Given the description of an element on the screen output the (x, y) to click on. 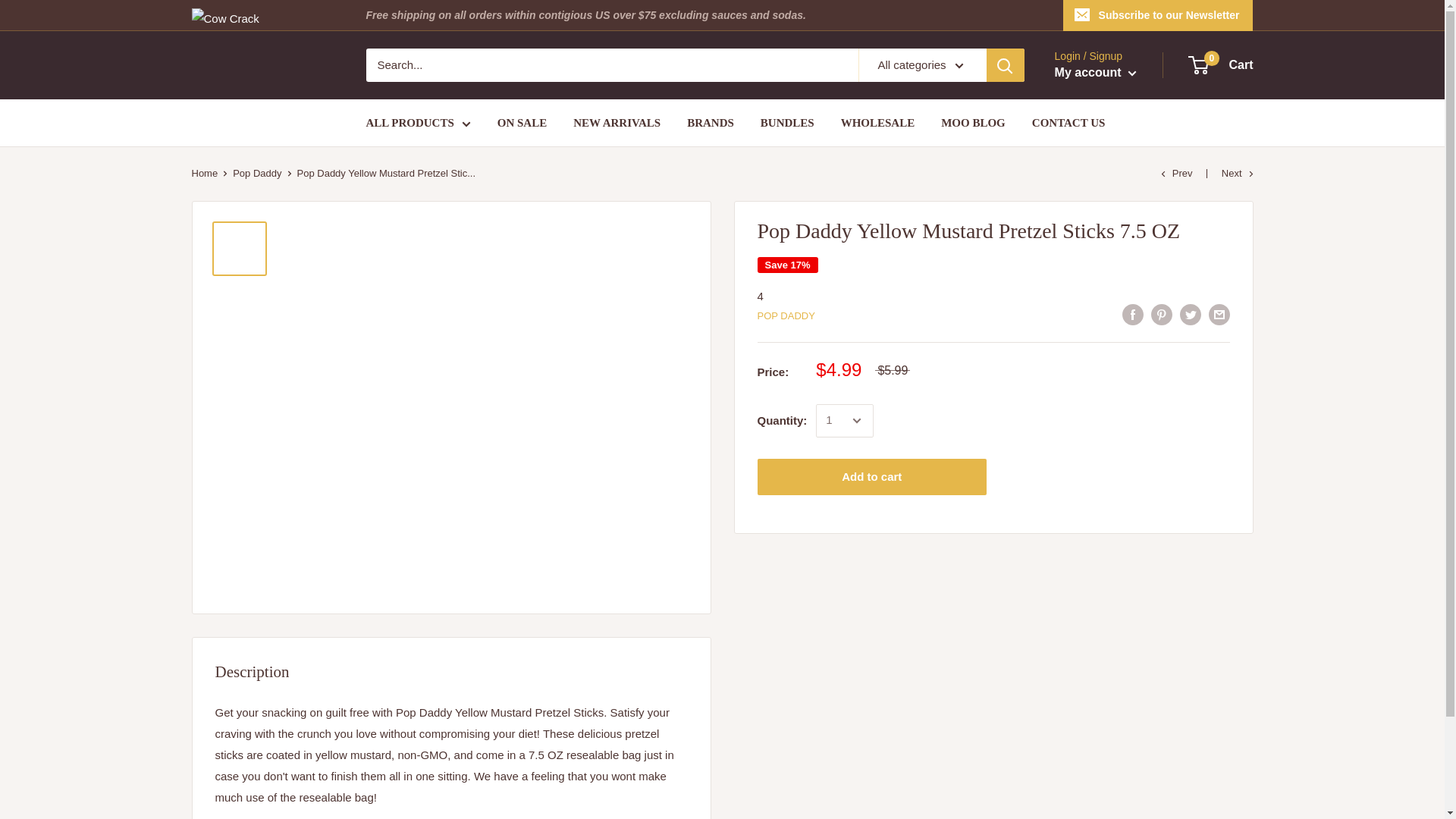
My account (1095, 72)
ALL PRODUCTS (1220, 65)
Subscribe to our Newsletter (417, 122)
